Given the description of an element on the screen output the (x, y) to click on. 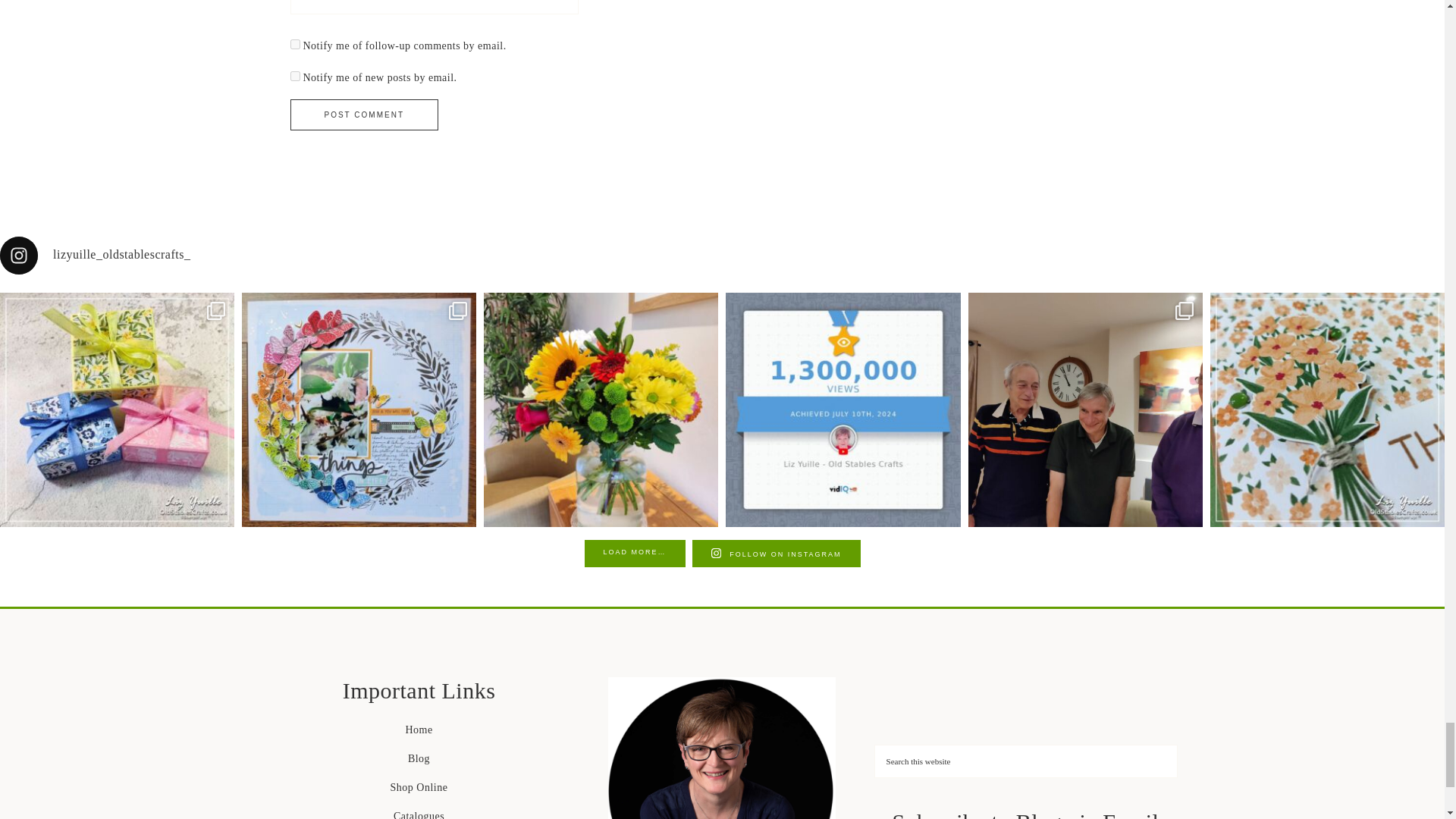
subscribe (294, 44)
Post Comment (363, 114)
subscribe (294, 76)
